Given the description of an element on the screen output the (x, y) to click on. 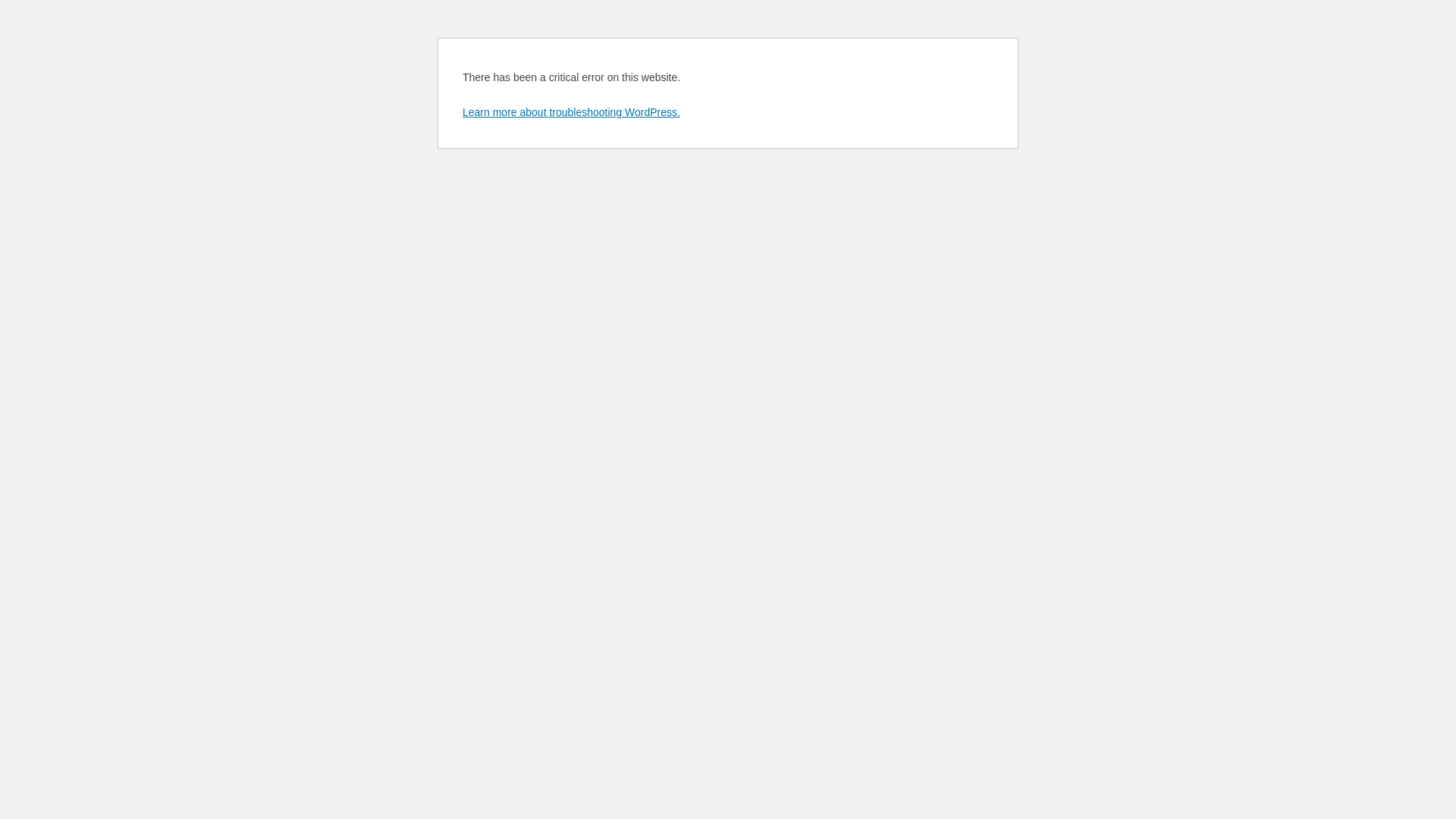
Learn more about troubleshooting WordPress. Element type: text (571, 112)
